Given the description of an element on the screen output the (x, y) to click on. 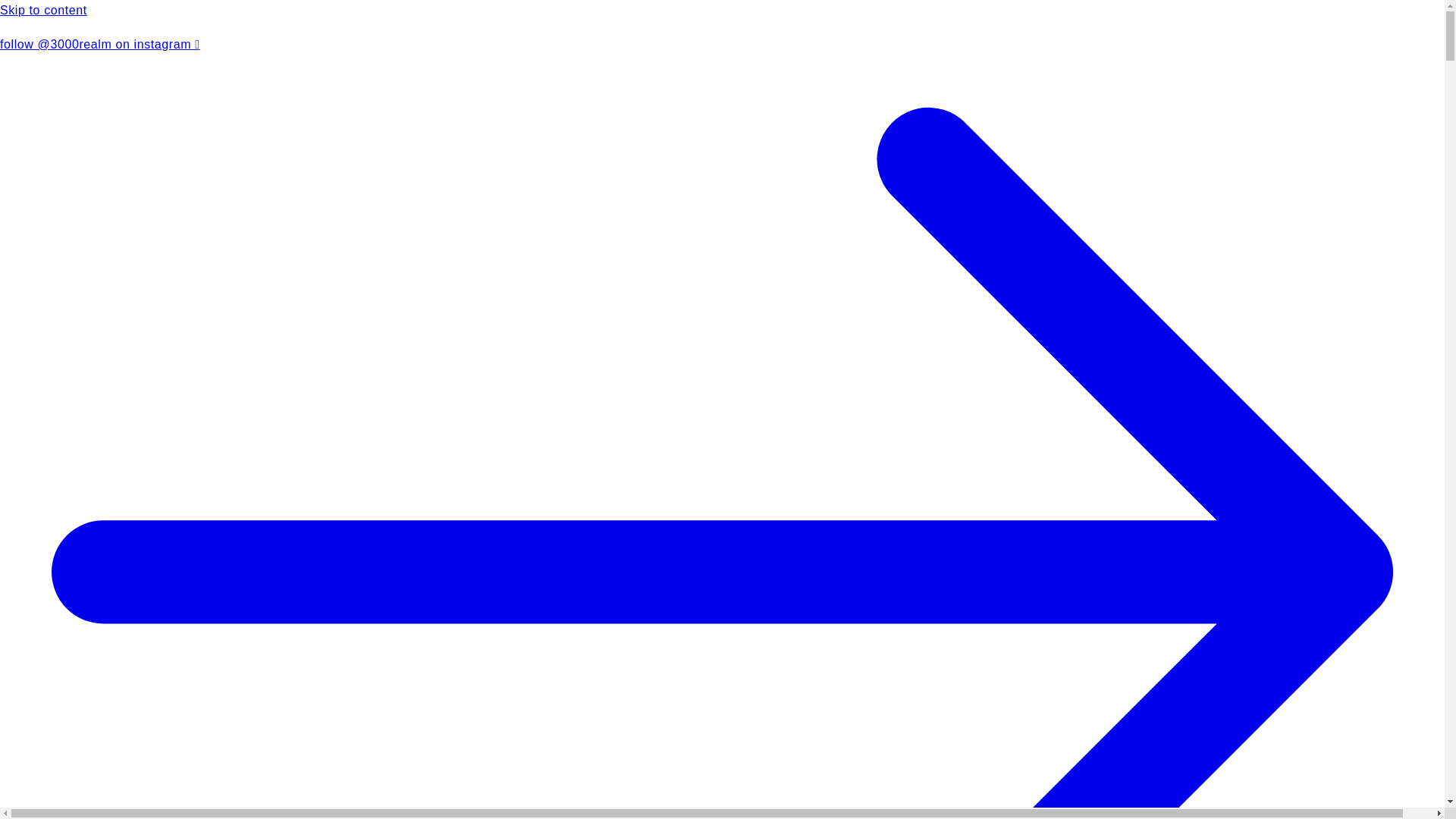
Skip to content Element type: text (722, 10)
